Given the description of an element on the screen output the (x, y) to click on. 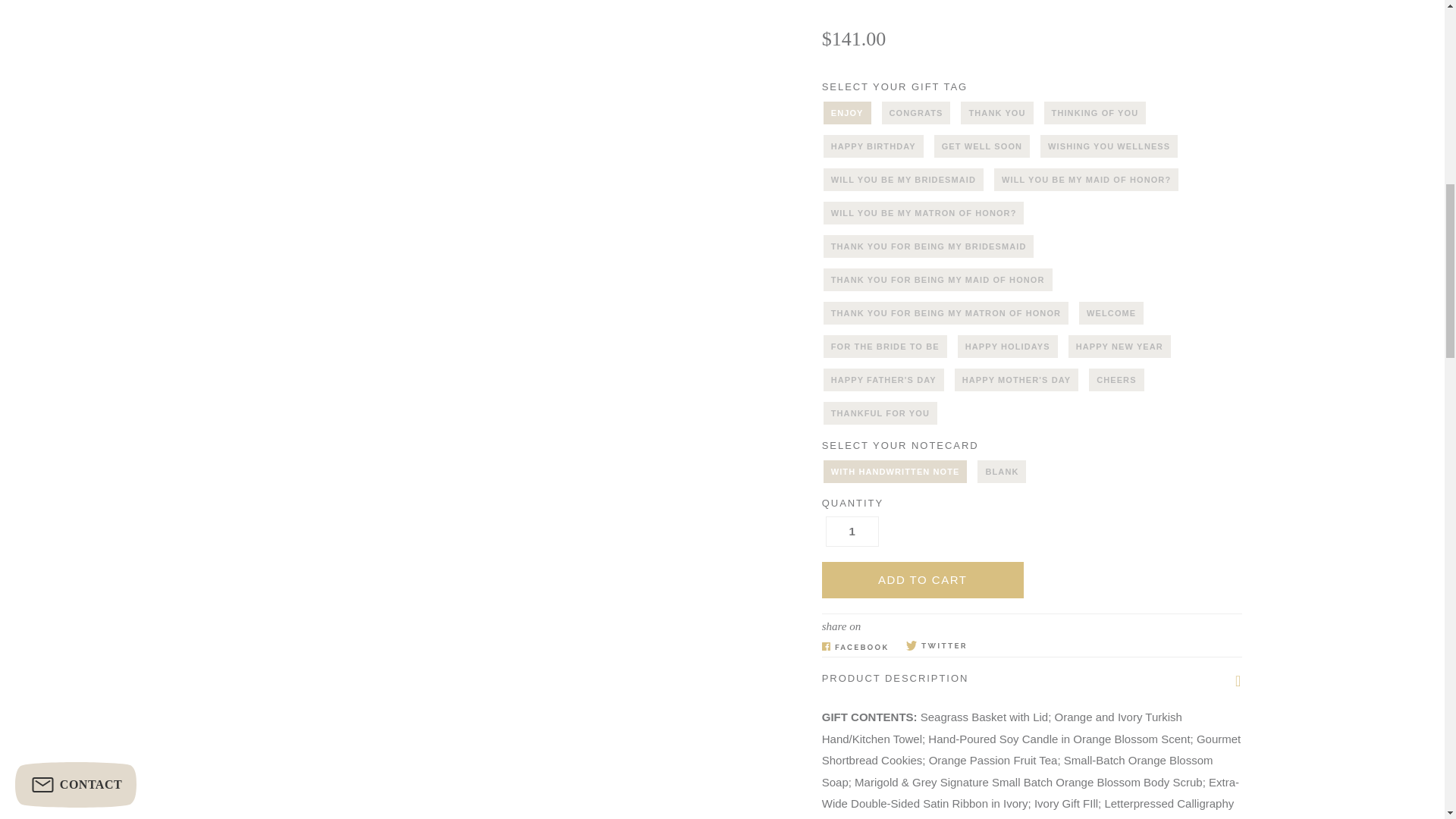
1 (852, 531)
Add to Cart (922, 579)
